Given the description of an element on the screen output the (x, y) to click on. 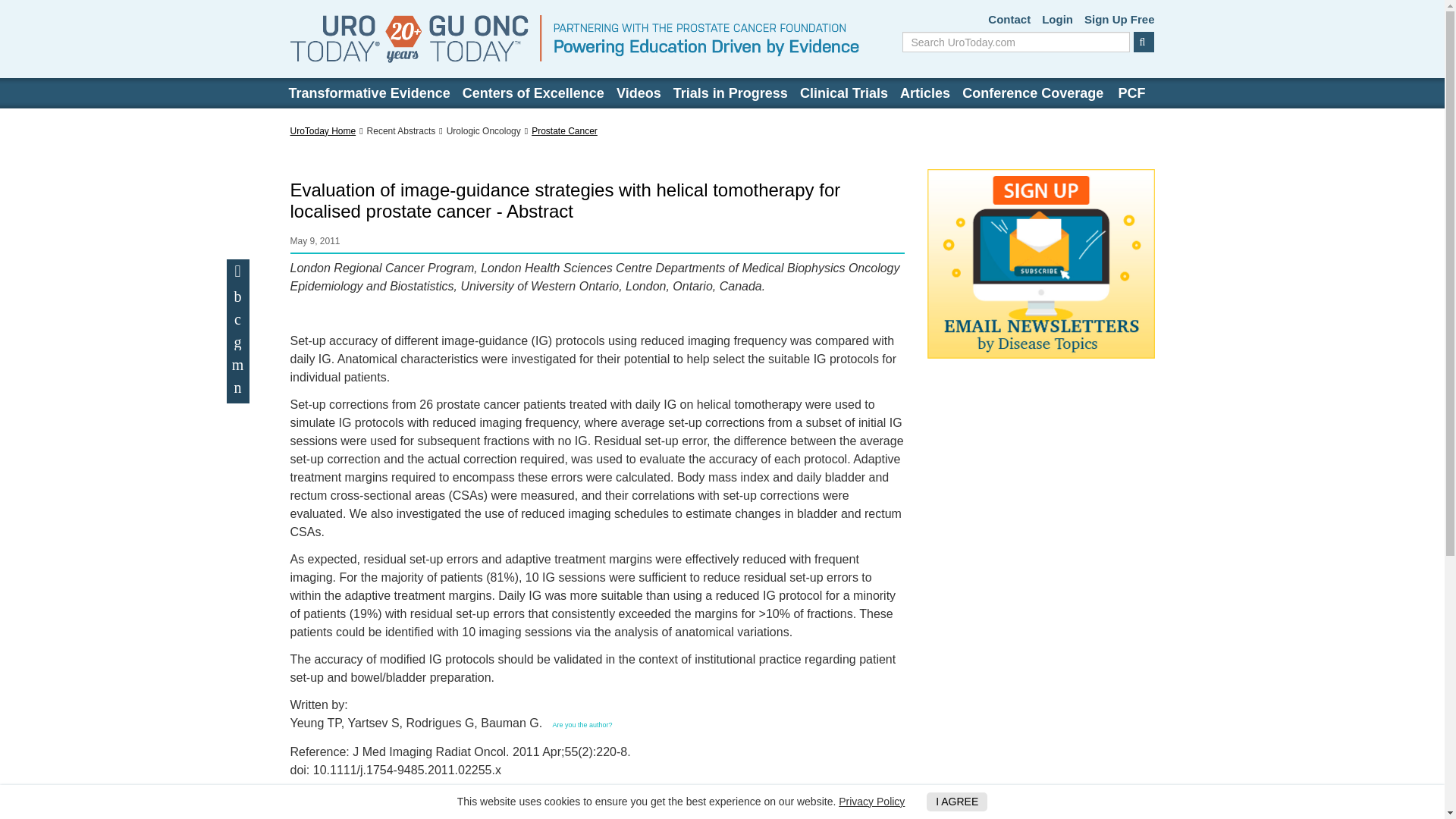
Contact (1009, 19)
I AGREE (956, 801)
Sign Up Free (1119, 19)
UroToday (574, 39)
Privacy Policy (871, 801)
Login (1057, 19)
